Given the description of an element on the screen output the (x, y) to click on. 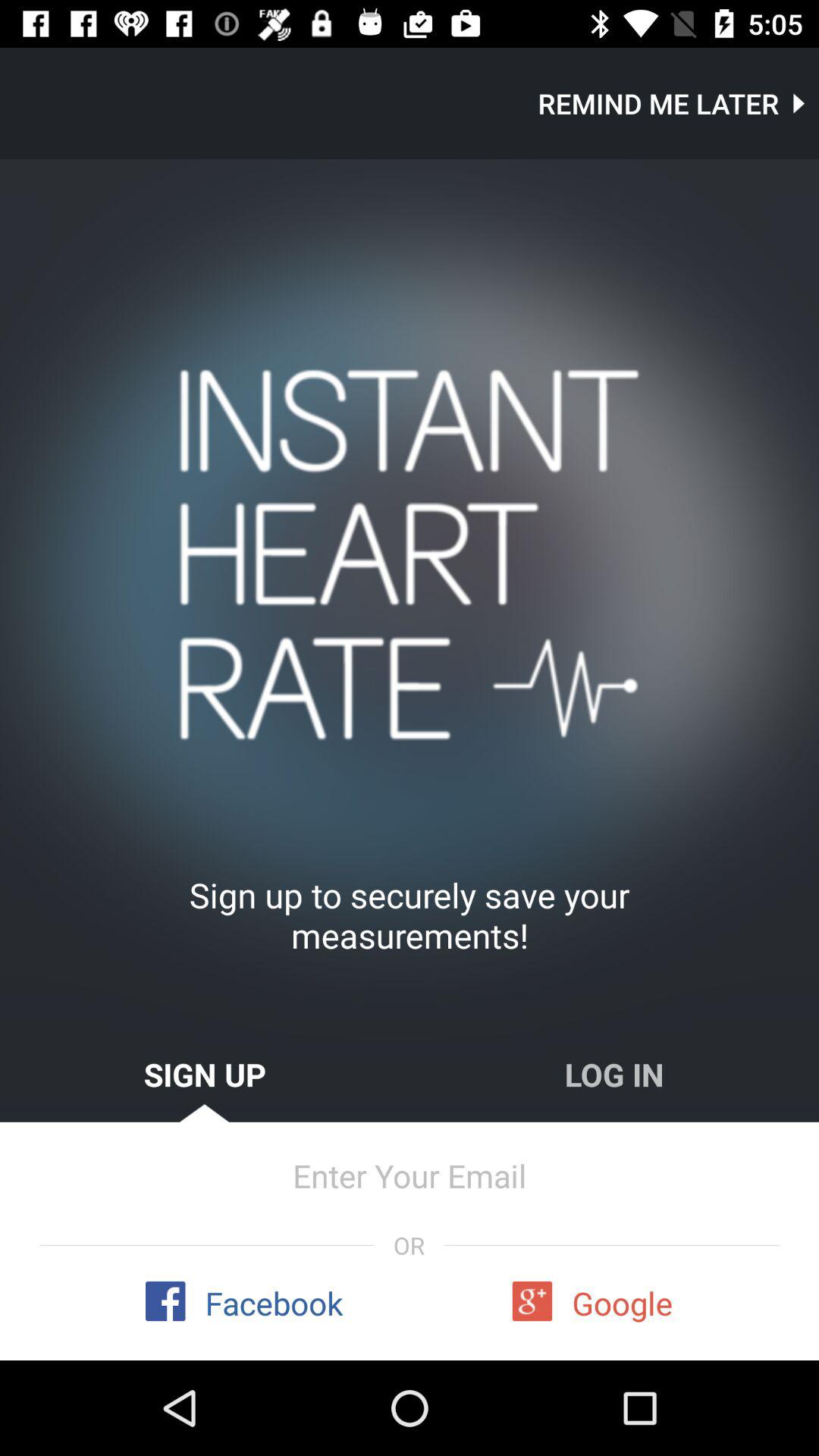
click the icon below the sign up icon (409, 1175)
